Given the description of an element on the screen output the (x, y) to click on. 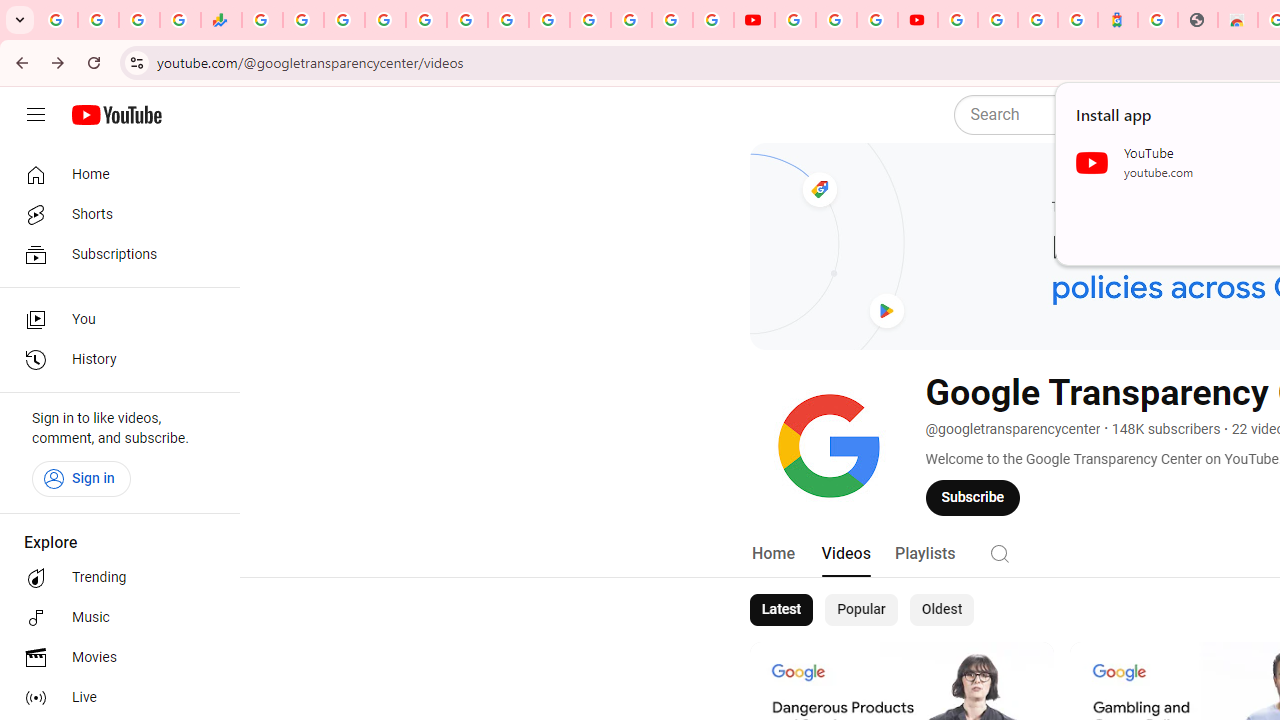
Chrome Web Store - Household (1238, 20)
Sign in - Google Accounts (997, 20)
Android TV Policies and Guidelines - Transparency Center (507, 20)
Trending (113, 578)
Content Creator Programs & Opportunities - YouTube Creators (918, 20)
Privacy Checkup (712, 20)
YouTube (795, 20)
YouTube Home (116, 115)
Atour Hotel - Google hotels (1117, 20)
Oldest (941, 609)
